Given the description of an element on the screen output the (x, y) to click on. 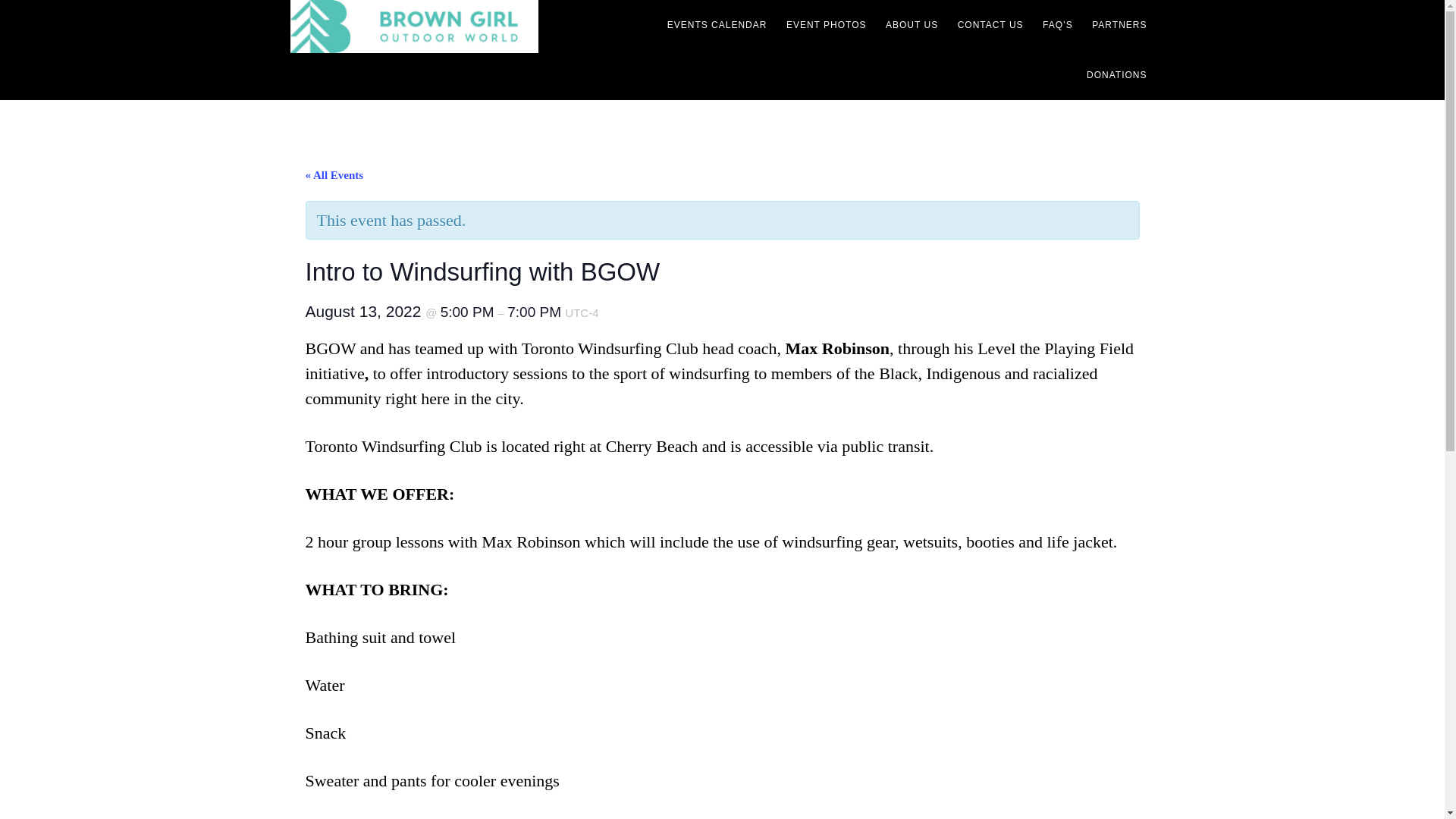
ABOUT US (910, 24)
EVENTS CALENDAR (716, 24)
CONTACT US (990, 24)
PARTNERS (1119, 24)
DONATIONS (1116, 74)
BROWN GIRL OUTDOOR WORLD (425, 26)
EVENT PHOTOS (826, 24)
